Given the description of an element on the screen output the (x, y) to click on. 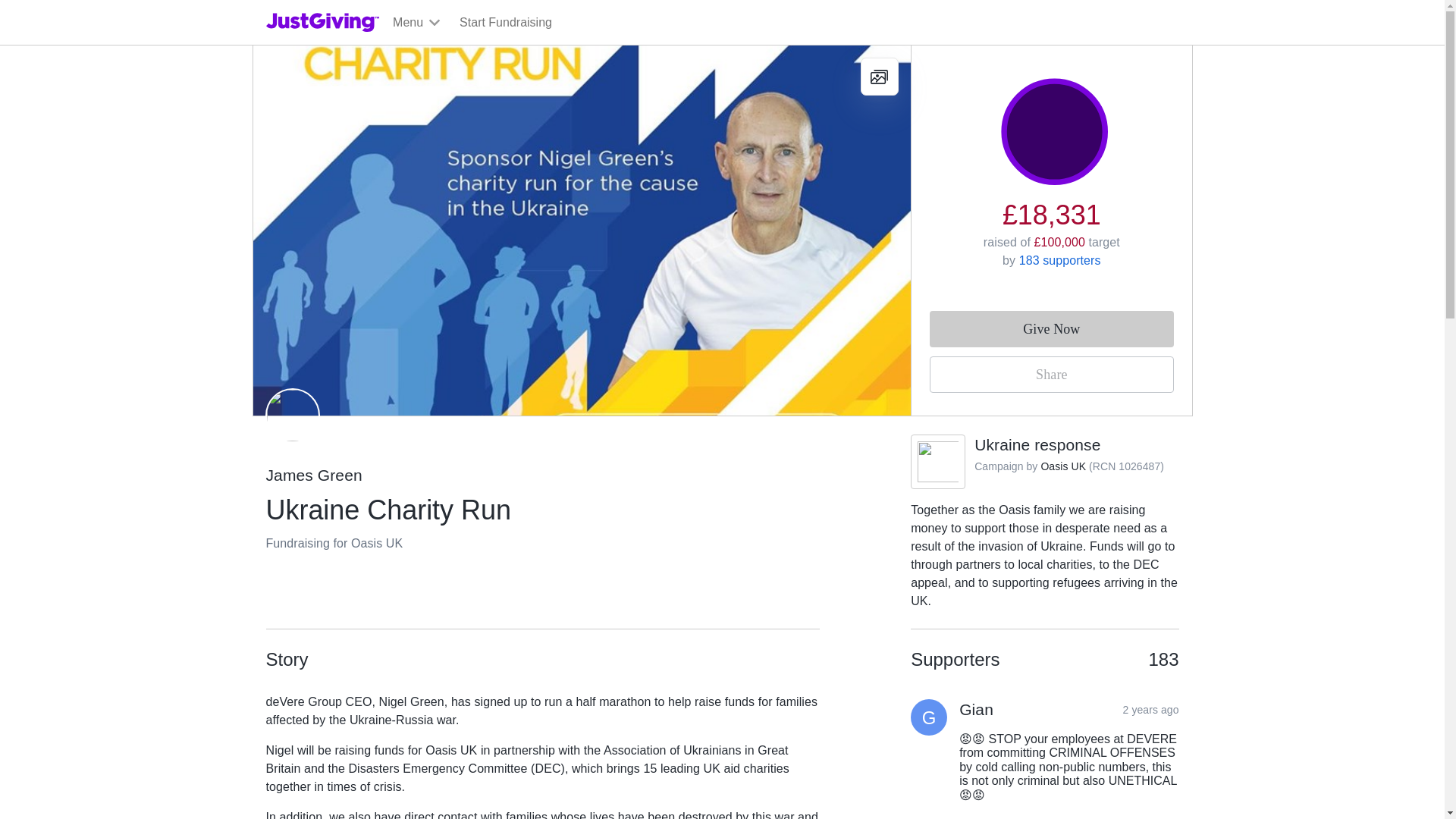
Oasis UK (1063, 466)
Start Fundraising (505, 22)
Search (919, 57)
G (929, 717)
Share (1051, 374)
Ukraine response (1037, 444)
Menu (416, 22)
183 supporters (1059, 259)
